Given the description of an element on the screen output the (x, y) to click on. 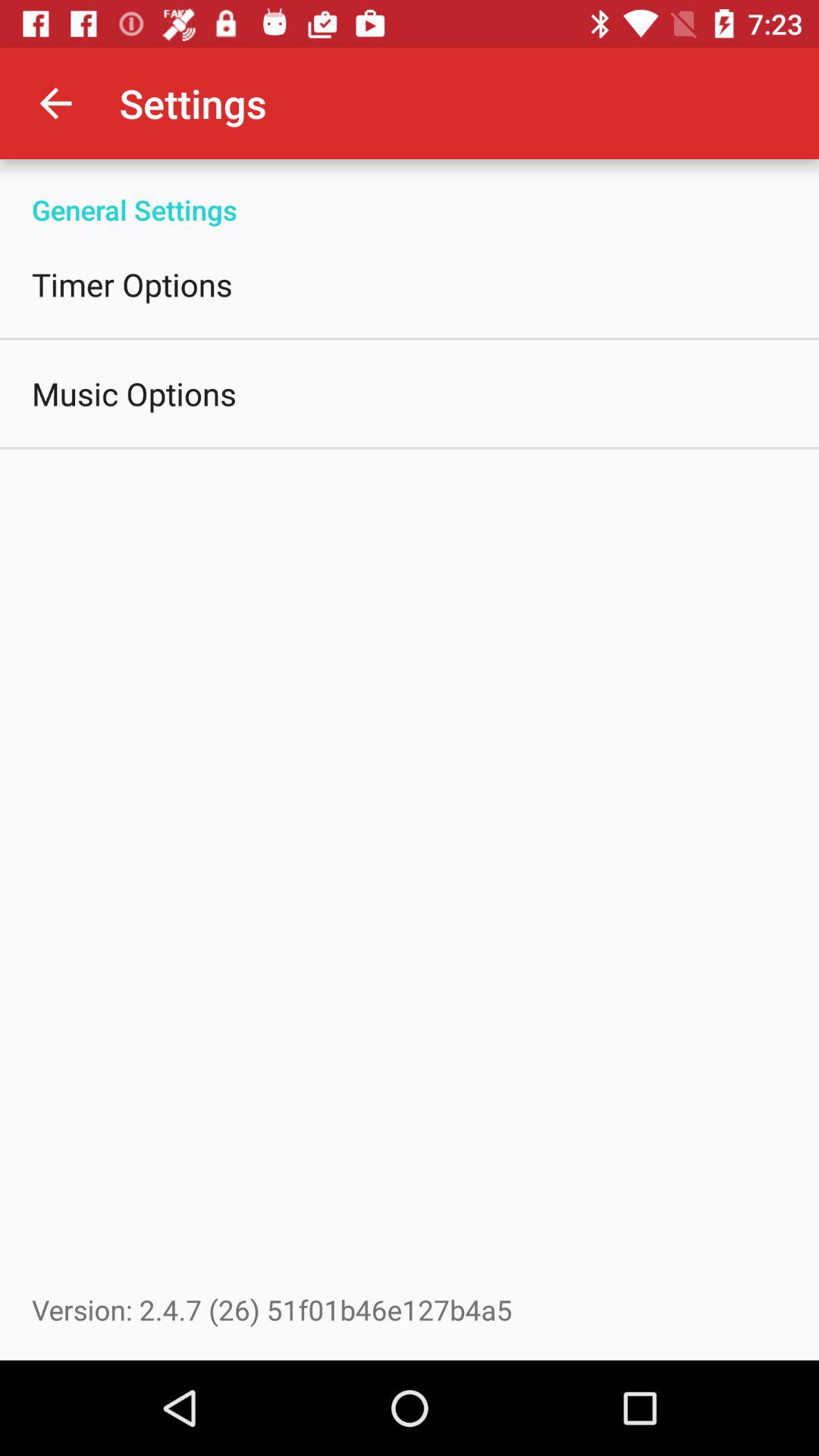
press app next to settings (55, 103)
